Given the description of an element on the screen output the (x, y) to click on. 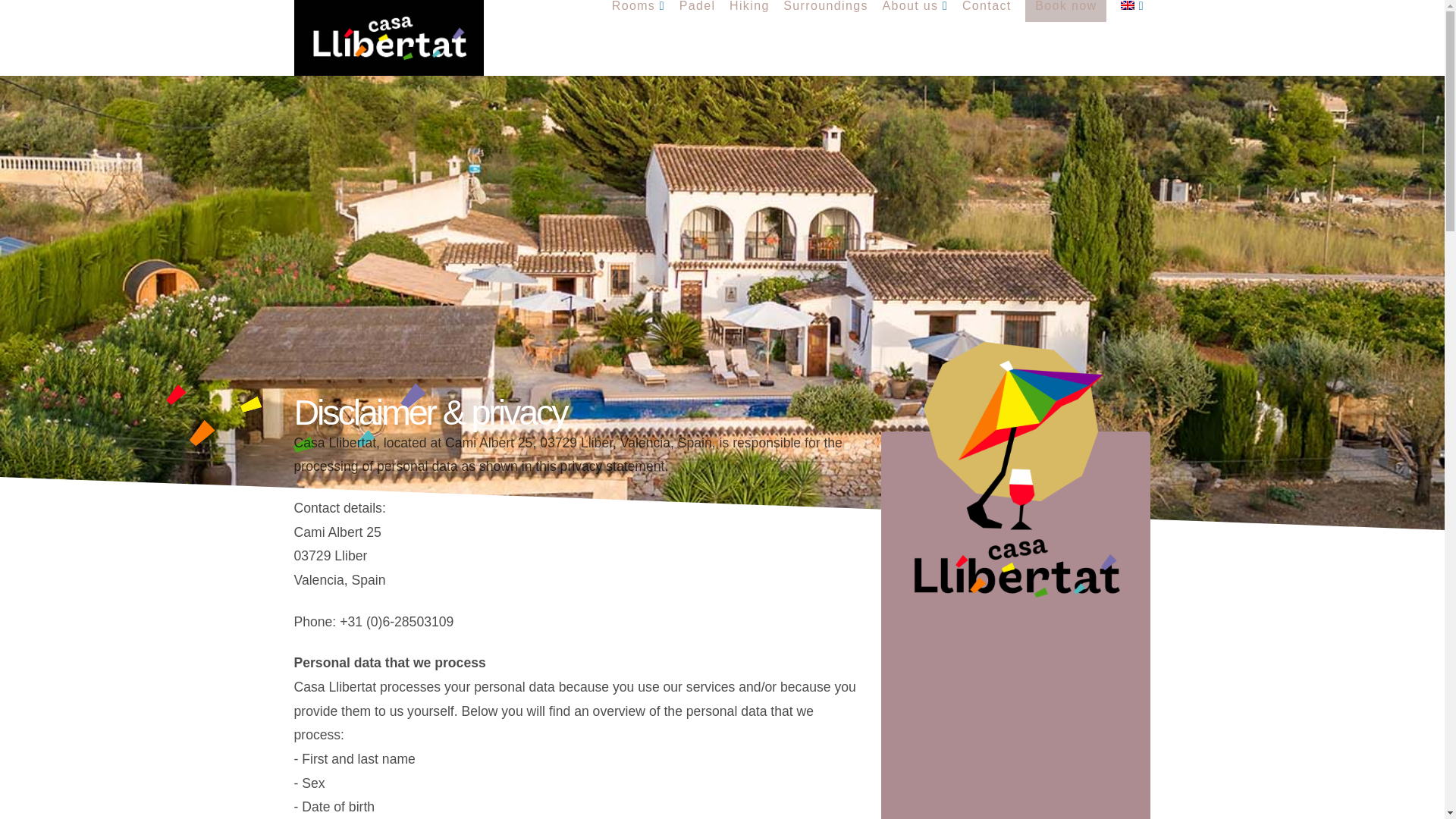
About us (915, 22)
Book now (1065, 22)
Surroundings (825, 22)
Padel (696, 22)
Hiking (749, 22)
Rooms (637, 22)
Contact (986, 22)
